Given the description of an element on the screen output the (x, y) to click on. 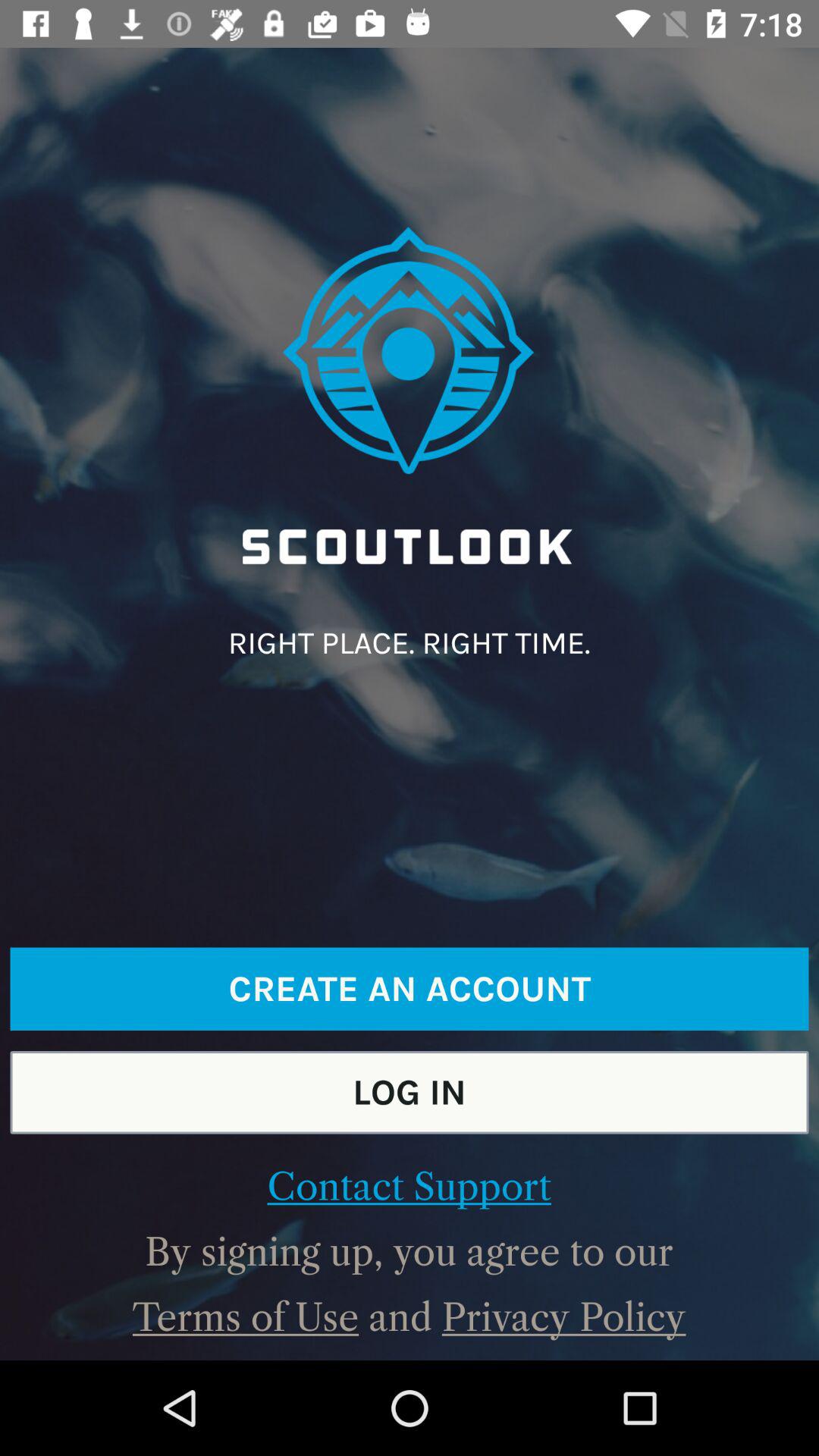
select icon above the by signing up icon (409, 1186)
